Given the description of an element on the screen output the (x, y) to click on. 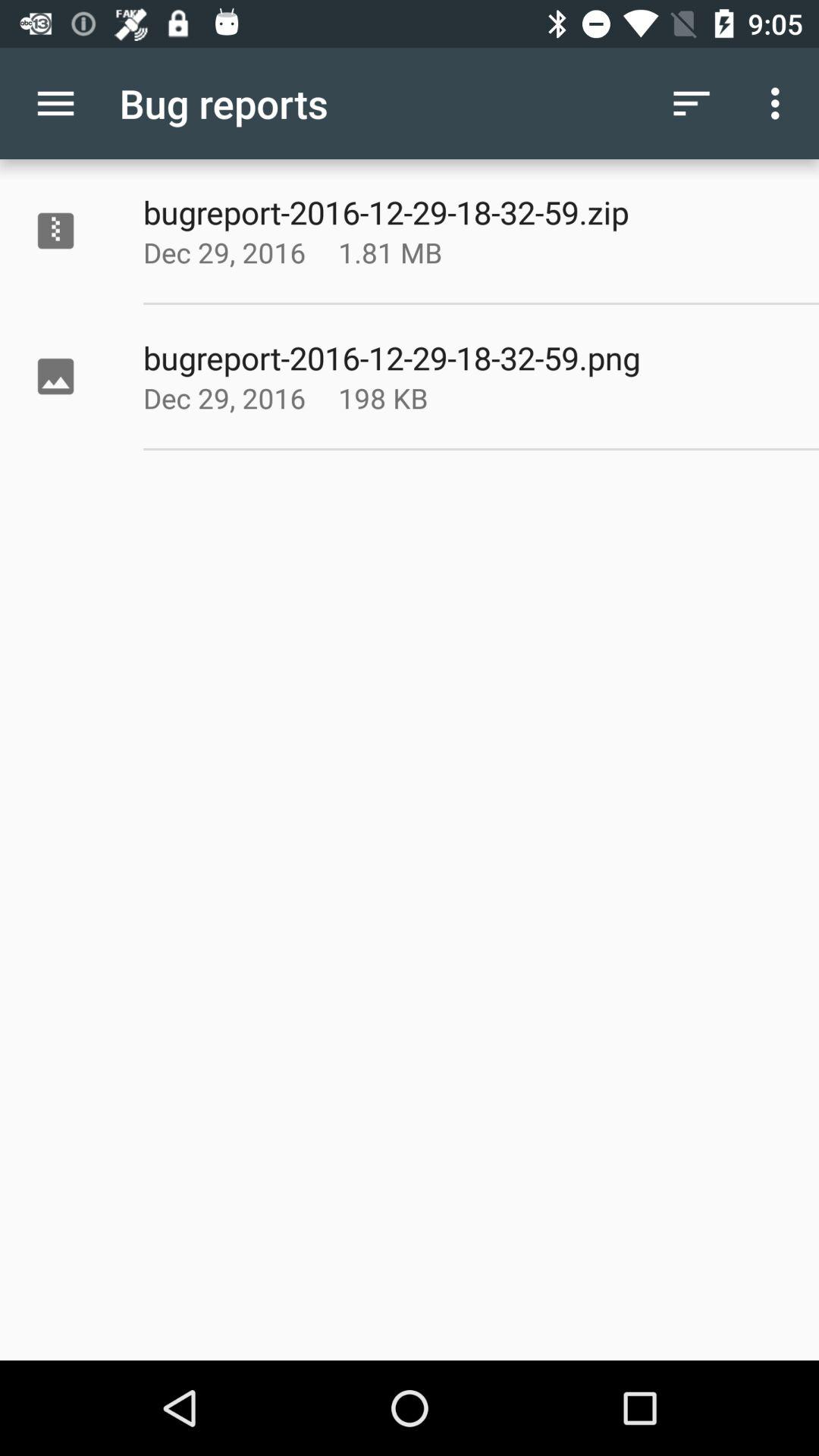
tap the item below bugreport 2016 12 item (427, 252)
